Given the description of an element on the screen output the (x, y) to click on. 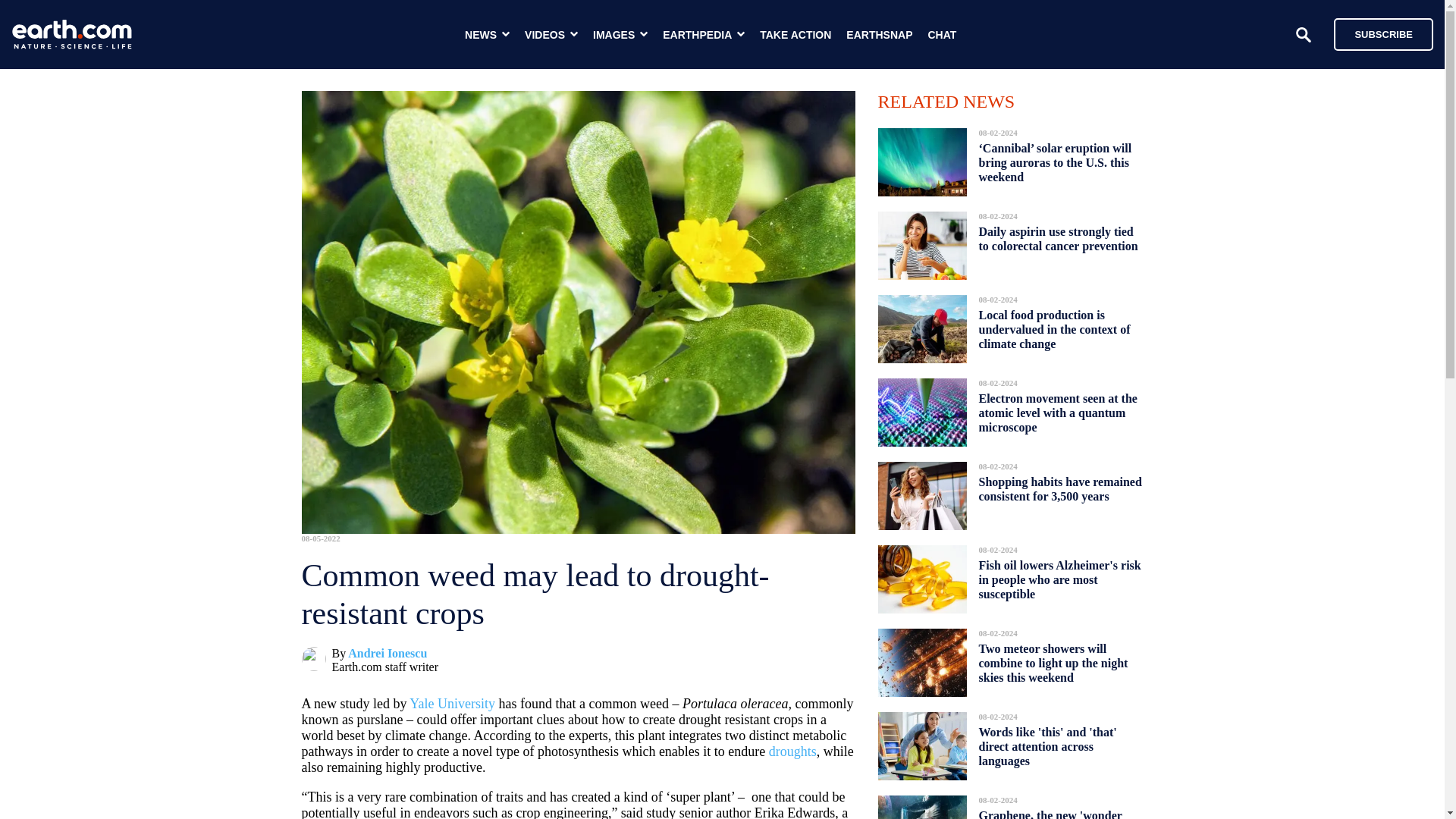
CHAT (941, 34)
TAKE ACTION (795, 34)
Andrei Ionescu (386, 653)
Shopping habits have remained consistent for 3,500 years (1059, 488)
SUBSCRIBE (1375, 33)
SUBSCRIBE (1382, 34)
EARTHSNAP (878, 34)
droughts (792, 751)
Yale University (452, 703)
